Given the description of an element on the screen output the (x, y) to click on. 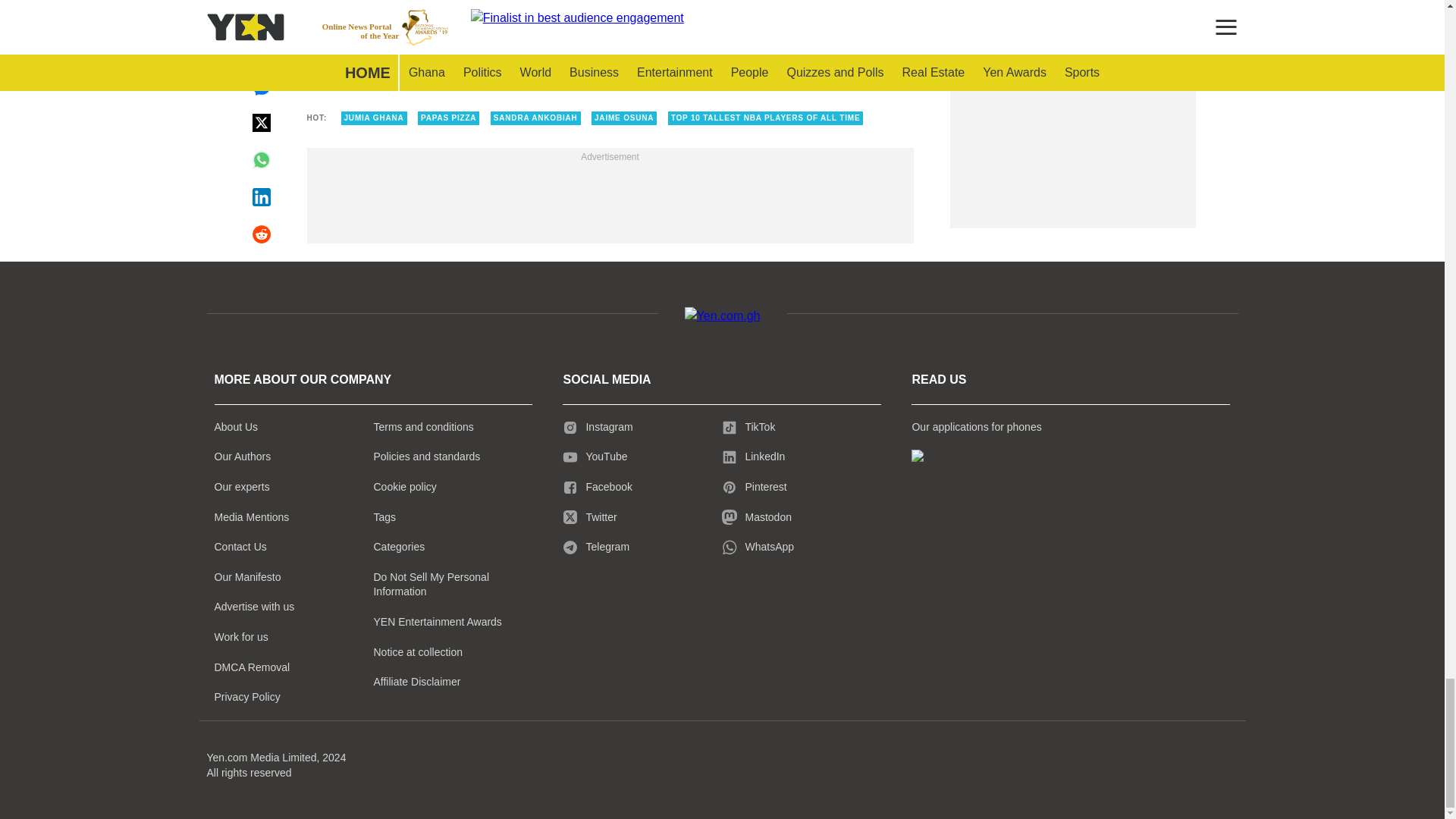
Author page (533, 32)
